Given the description of an element on the screen output the (x, y) to click on. 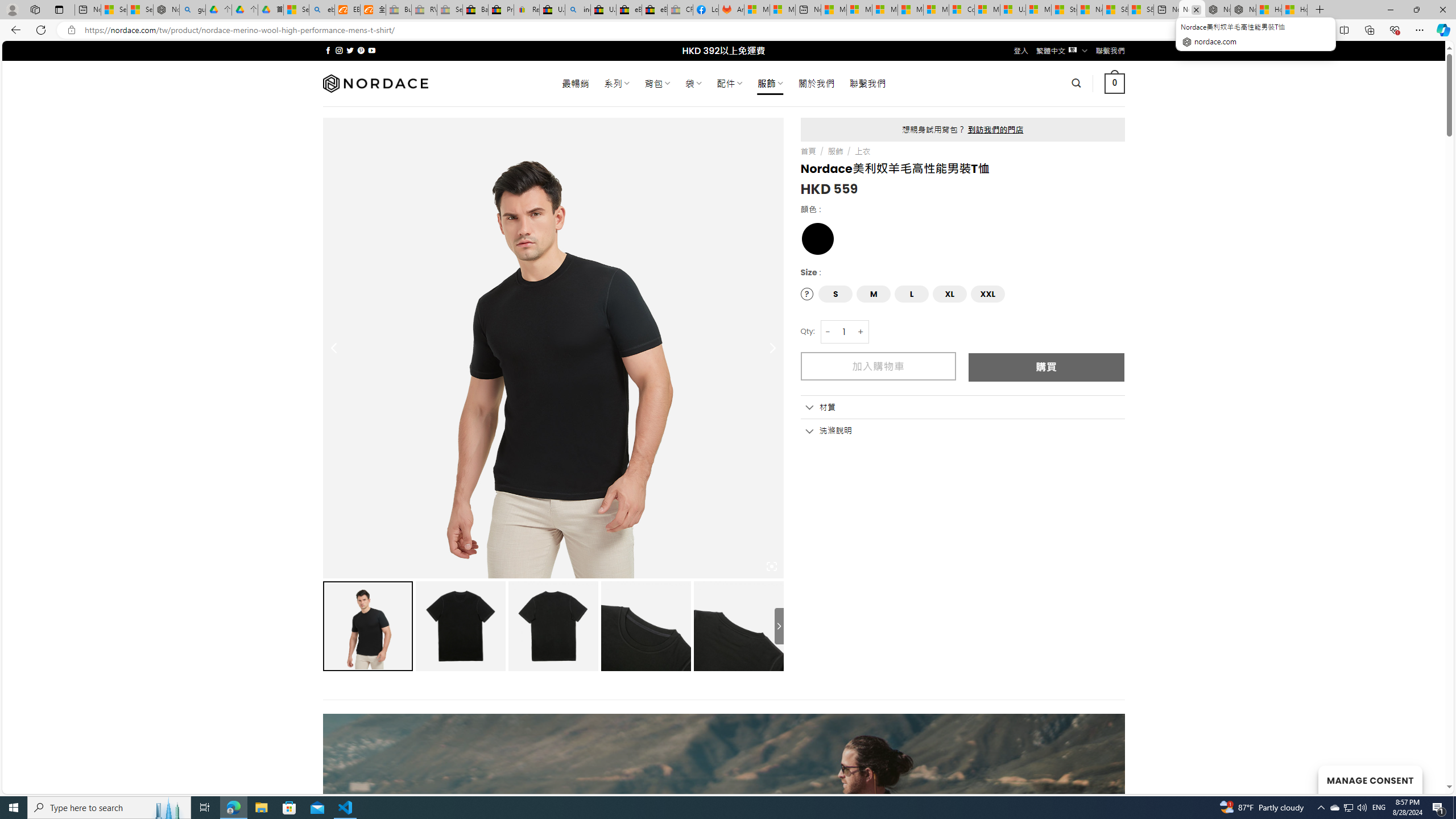
New Tab (1319, 9)
including - Search (577, 9)
Address and search bar (658, 29)
Follow on Pinterest (360, 50)
